Given the description of an element on the screen output the (x, y) to click on. 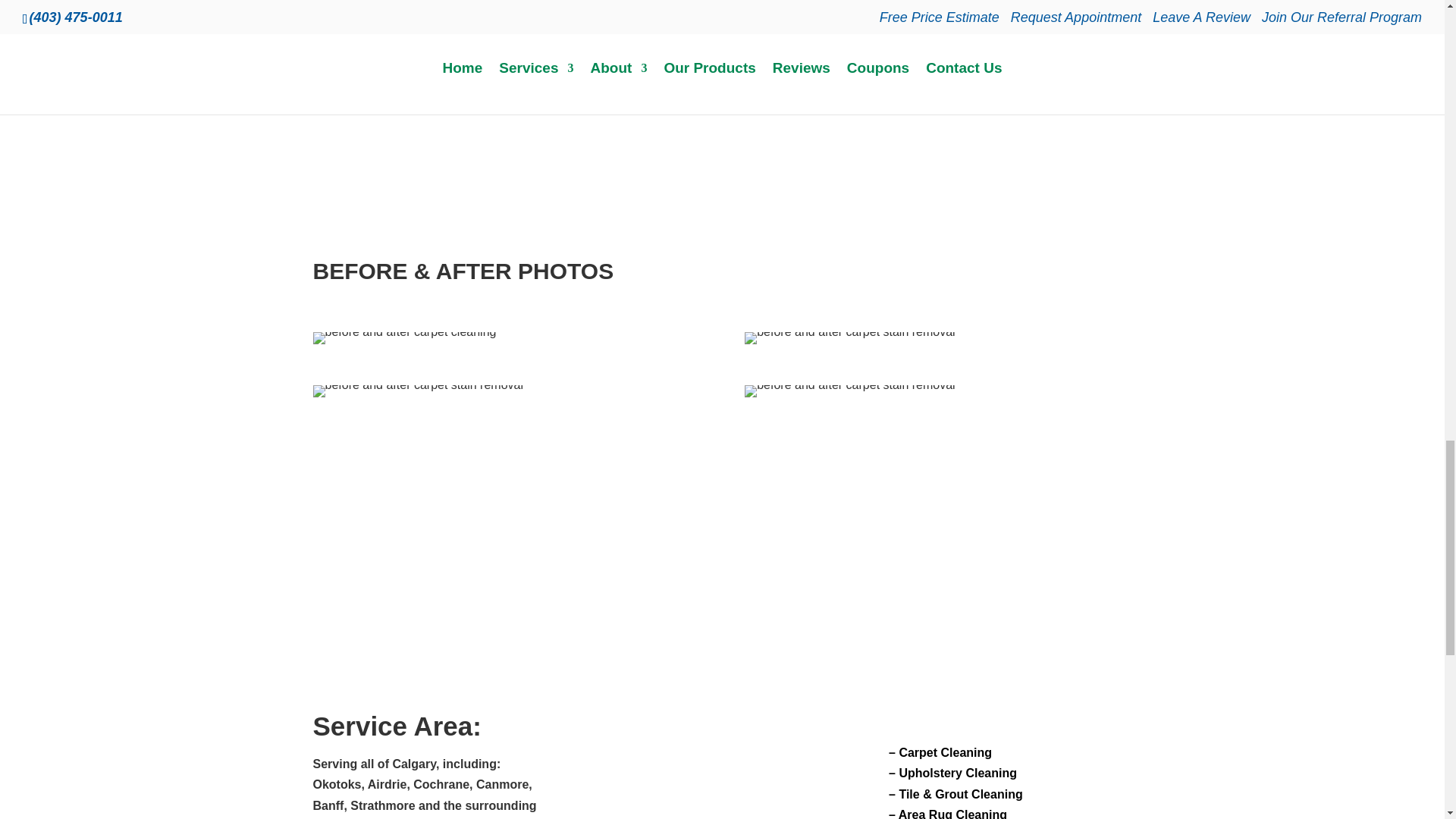
Read More (652, 6)
16 (417, 390)
Read More (364, 103)
before-after-carpet-paint-stain (849, 337)
Read More (941, 103)
17 (849, 390)
